Given the description of an element on the screen output the (x, y) to click on. 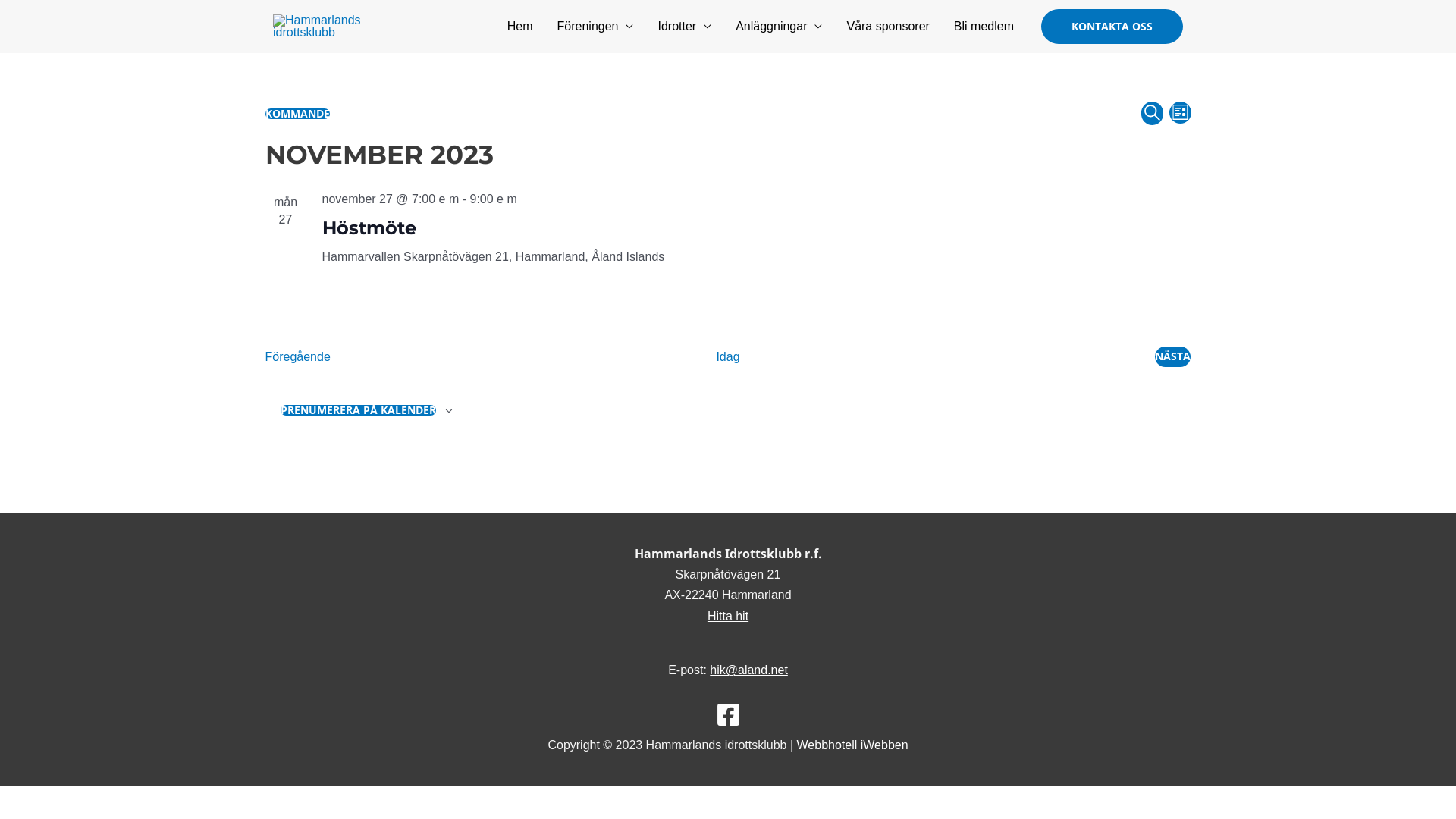
Hitta hit Element type: text (727, 615)
Bli medlem Element type: text (983, 26)
hik@aland.net Element type: text (748, 669)
Idrotter Element type: text (684, 26)
KONTAKTA OSS Element type: text (1112, 26)
Idag Element type: text (727, 356)
Hem Element type: text (520, 26)
Webbhotell iWebben Element type: text (852, 744)
LISTA Element type: text (1180, 112)
KOMMANDE Element type: text (297, 112)
